Given the description of an element on the screen output the (x, y) to click on. 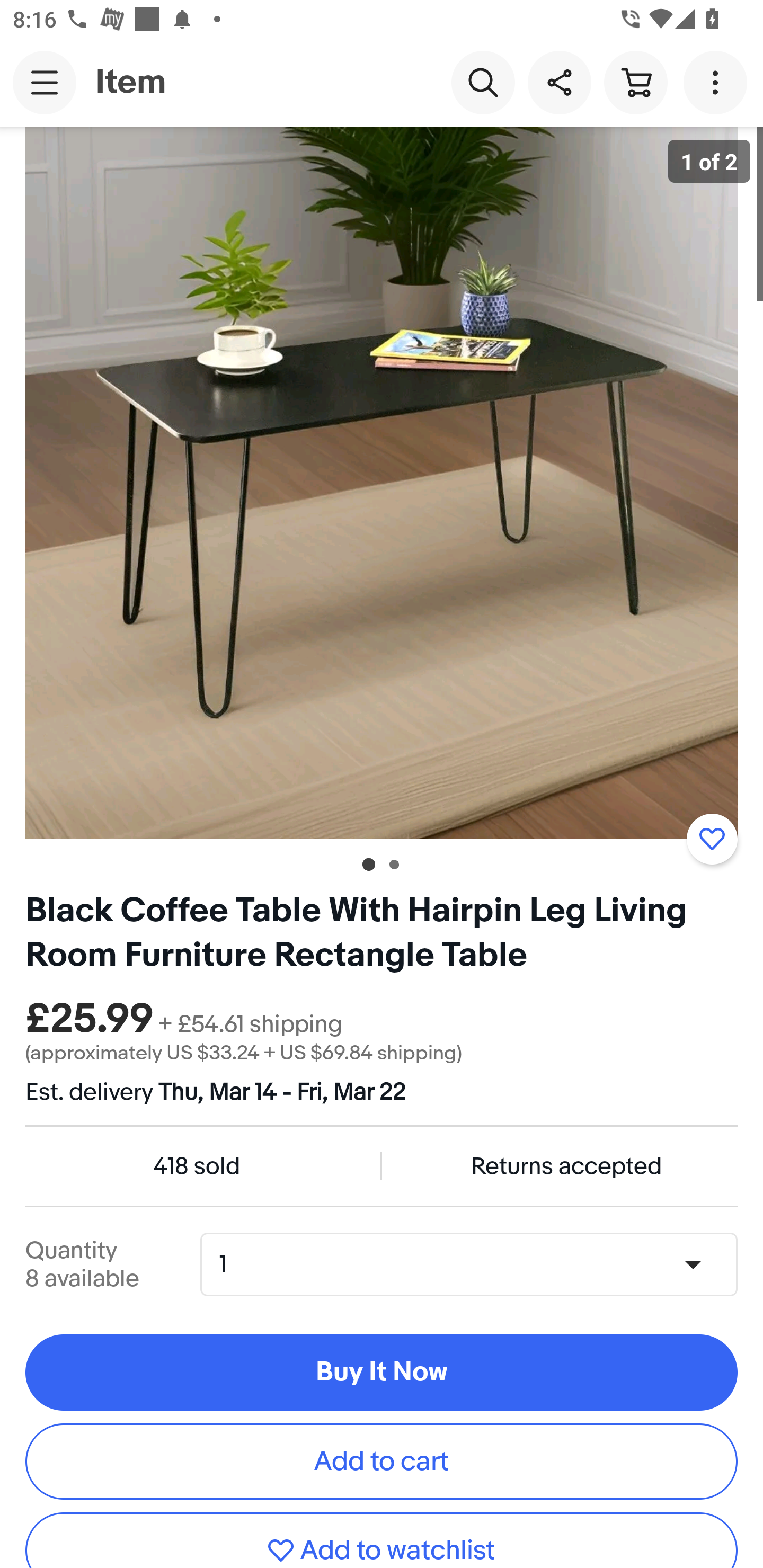
Main navigation, open (44, 82)
Search (482, 81)
Share this item (559, 81)
Cart button shopping cart (635, 81)
More options (718, 81)
Item image 1 of 2 (381, 482)
Add to watchlist (711, 838)
Quantity,1,8 available 1 (474, 1264)
Buy It Now (381, 1372)
Add to cart (381, 1461)
Add to watchlist (381, 1540)
